Given the description of an element on the screen output the (x, y) to click on. 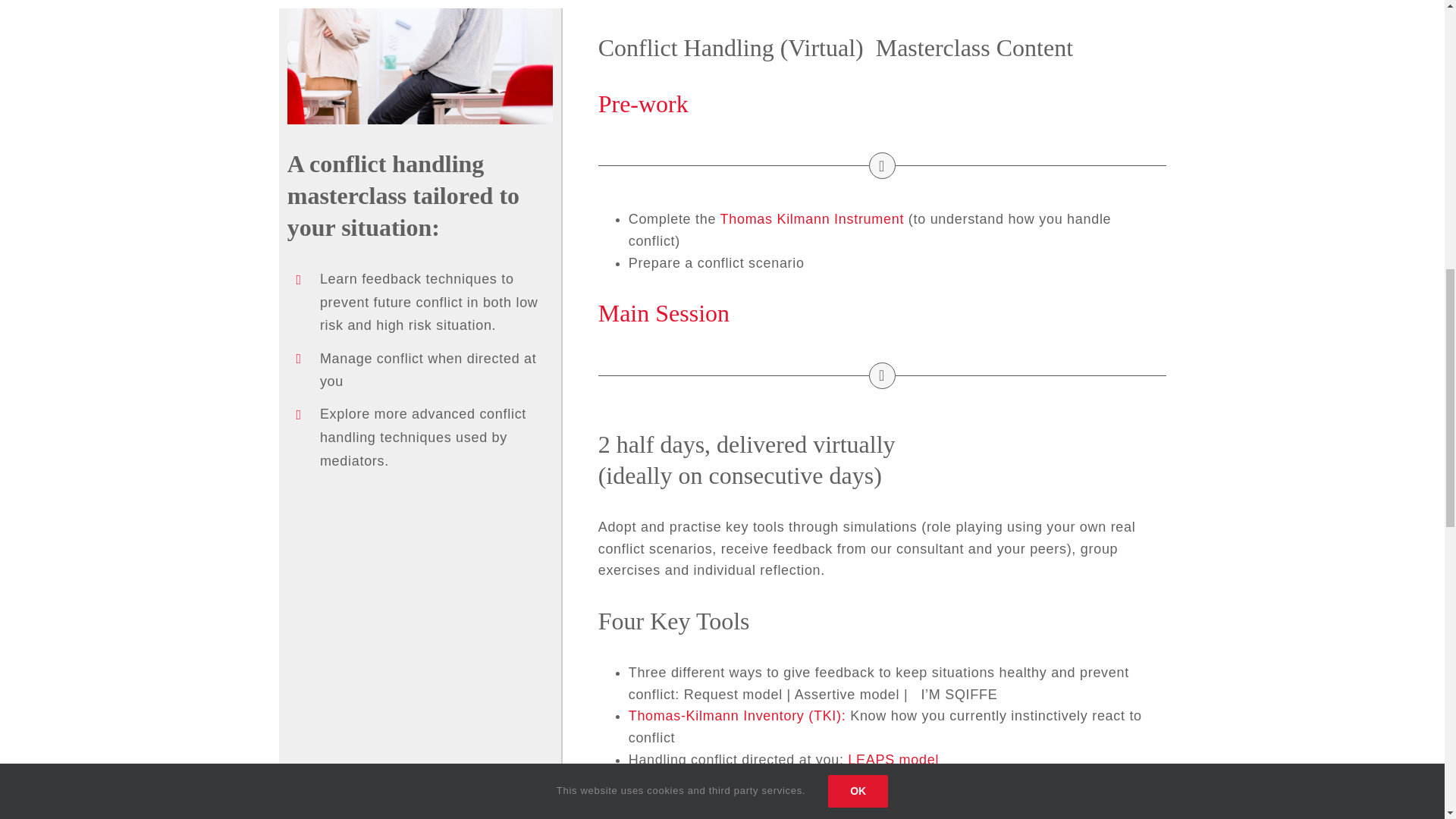
Feedback Squiffy (419, 66)
